Given the description of an element on the screen output the (x, y) to click on. 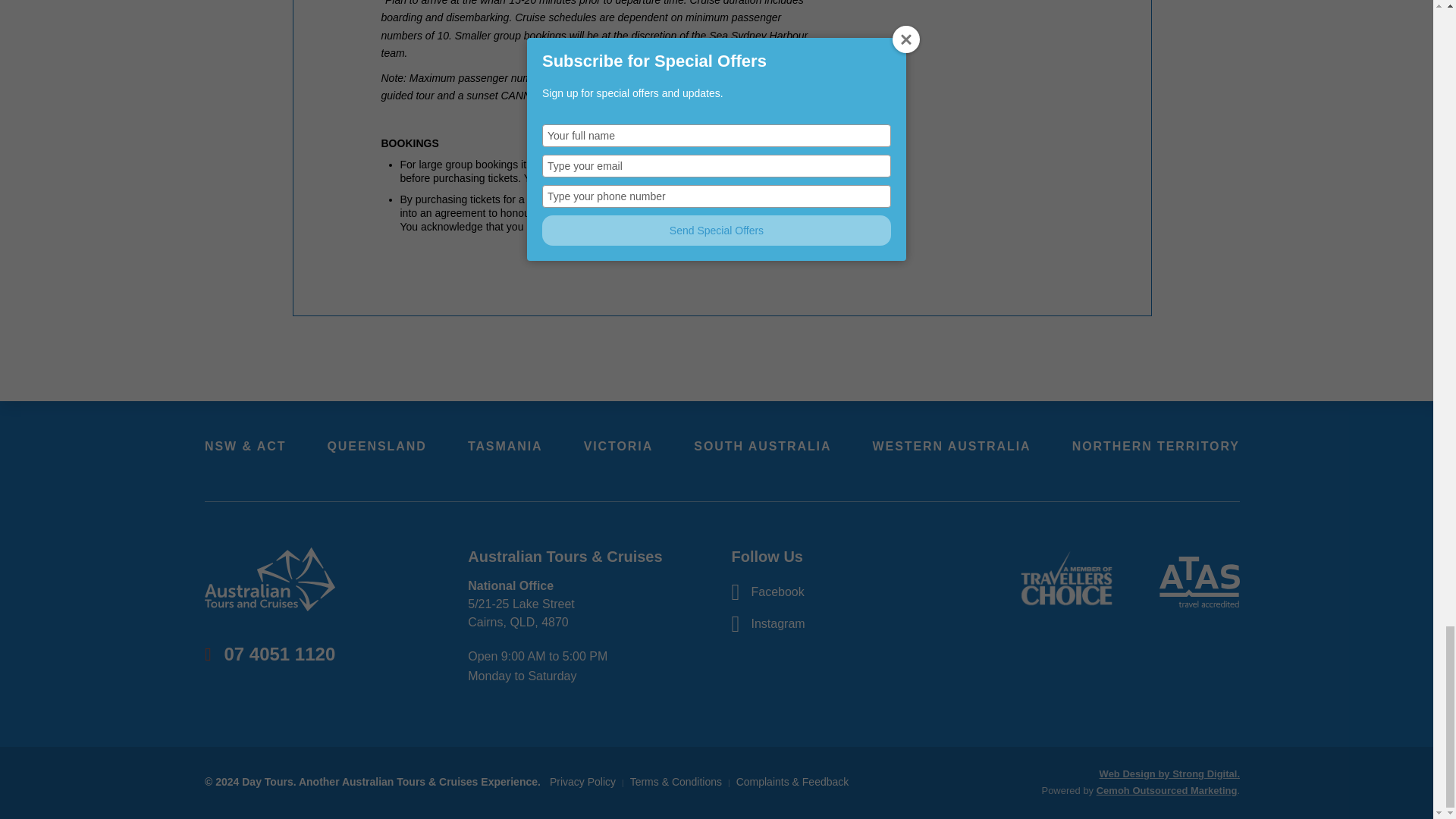
Powered by Cemoh Outsourced Marketing (1166, 790)
Web Design by Strong Digital (1169, 773)
